Given the description of an element on the screen output the (x, y) to click on. 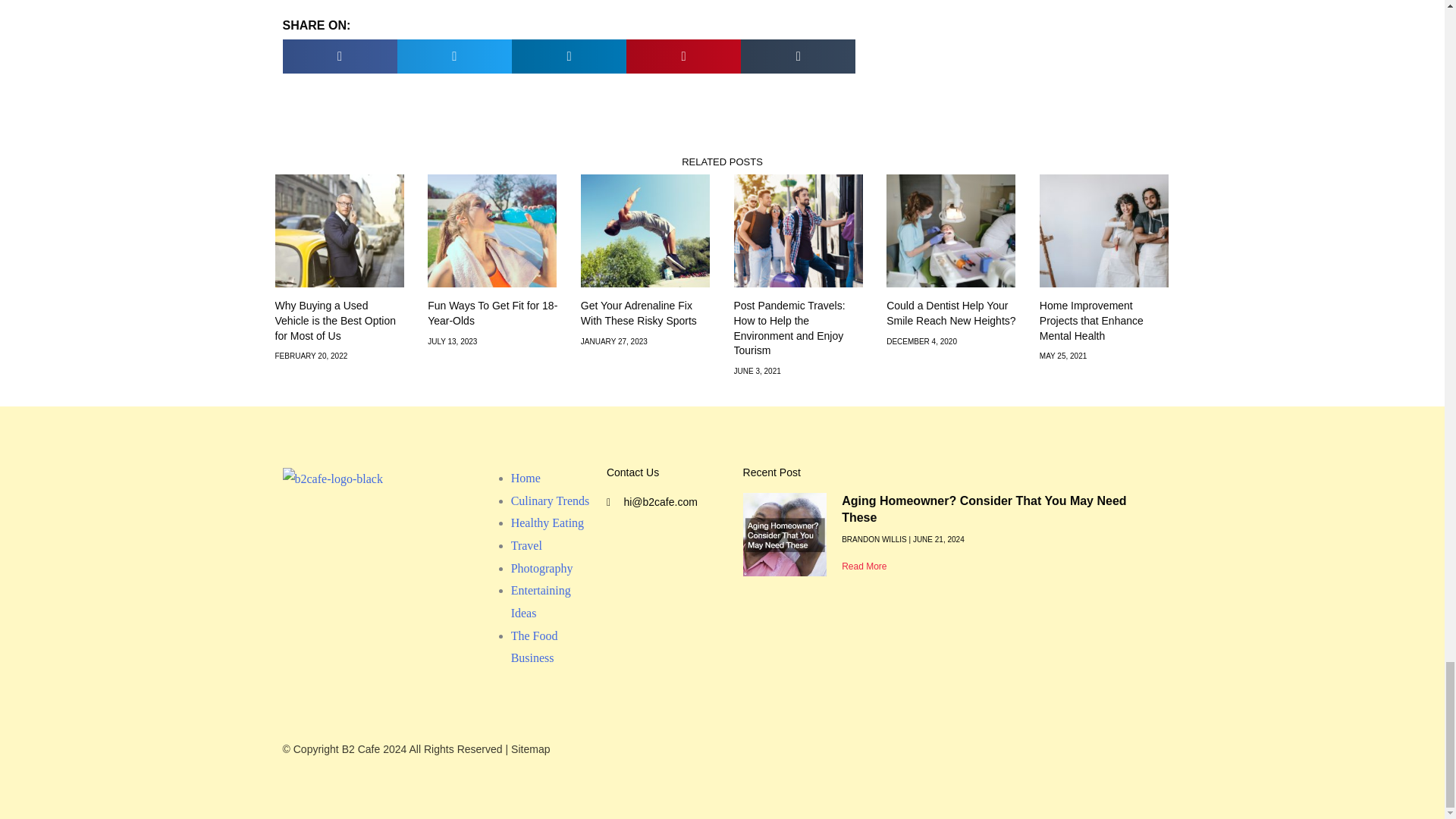
b2cafe-logo-black (331, 478)
Why Buying a Used Vehicle is the Best Option for Most of Us (335, 320)
Fun Ways To Get Fit for 18-Year-Olds (492, 312)
Get Your Adrenaline Fix With These Risky Sports (638, 312)
